Given the description of an element on the screen output the (x, y) to click on. 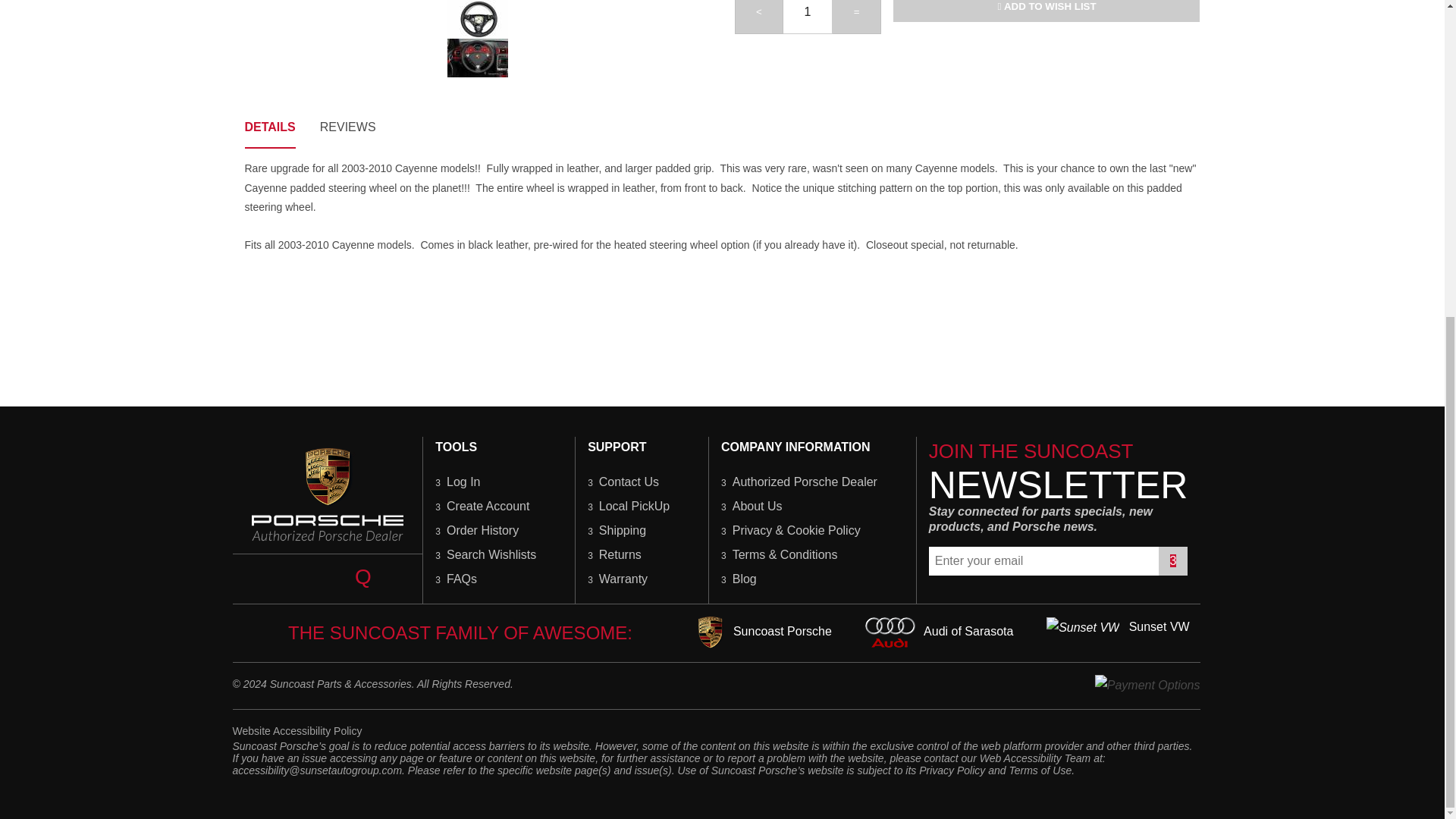
1 (807, 16)
